Given the description of an element on the screen output the (x, y) to click on. 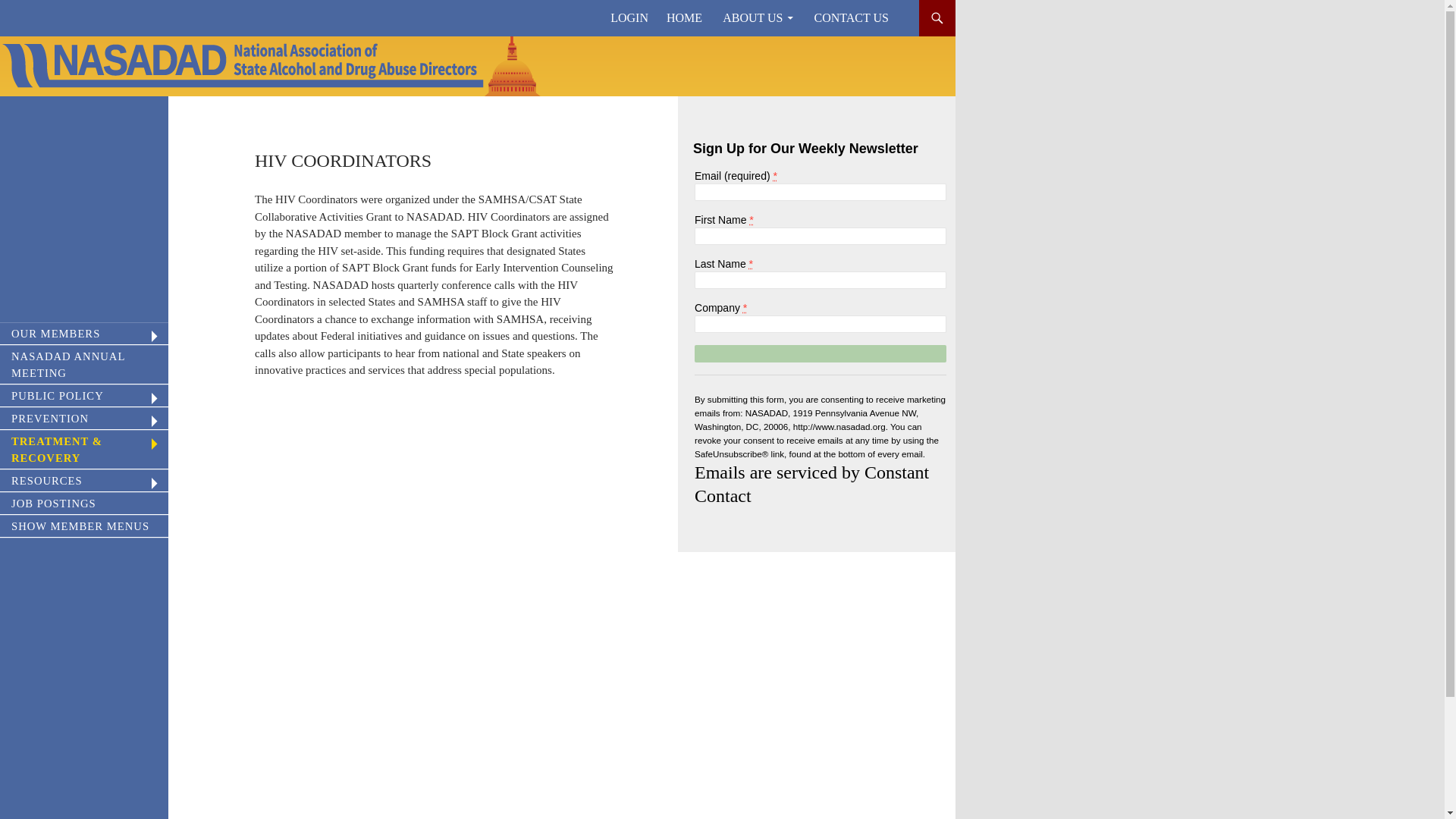
PREVENTION (84, 418)
HOME (684, 18)
OUR MEMBERS (84, 333)
CONTACT US (851, 18)
Sign Up (820, 353)
ABOUT US (757, 18)
NASADAD (55, 18)
PUBLIC POLICY (84, 395)
Emails are serviced by Constant Contact (811, 484)
NASADAD ANNUAL MEETING (84, 364)
Login (629, 18)
Sign Up (820, 353)
LOGIN (629, 18)
